Given the description of an element on the screen output the (x, y) to click on. 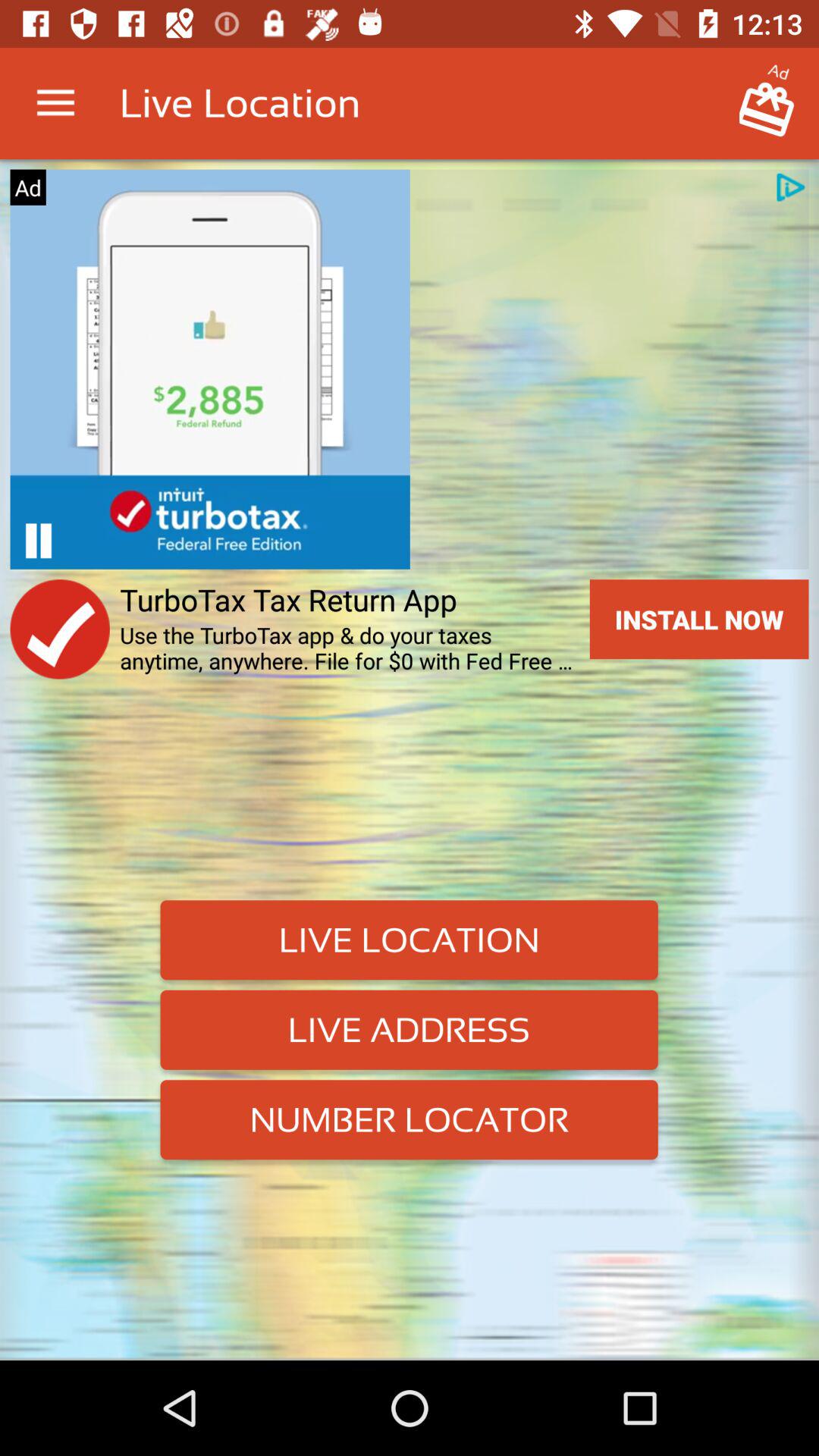
go to play (38, 540)
